Given the description of an element on the screen output the (x, y) to click on. 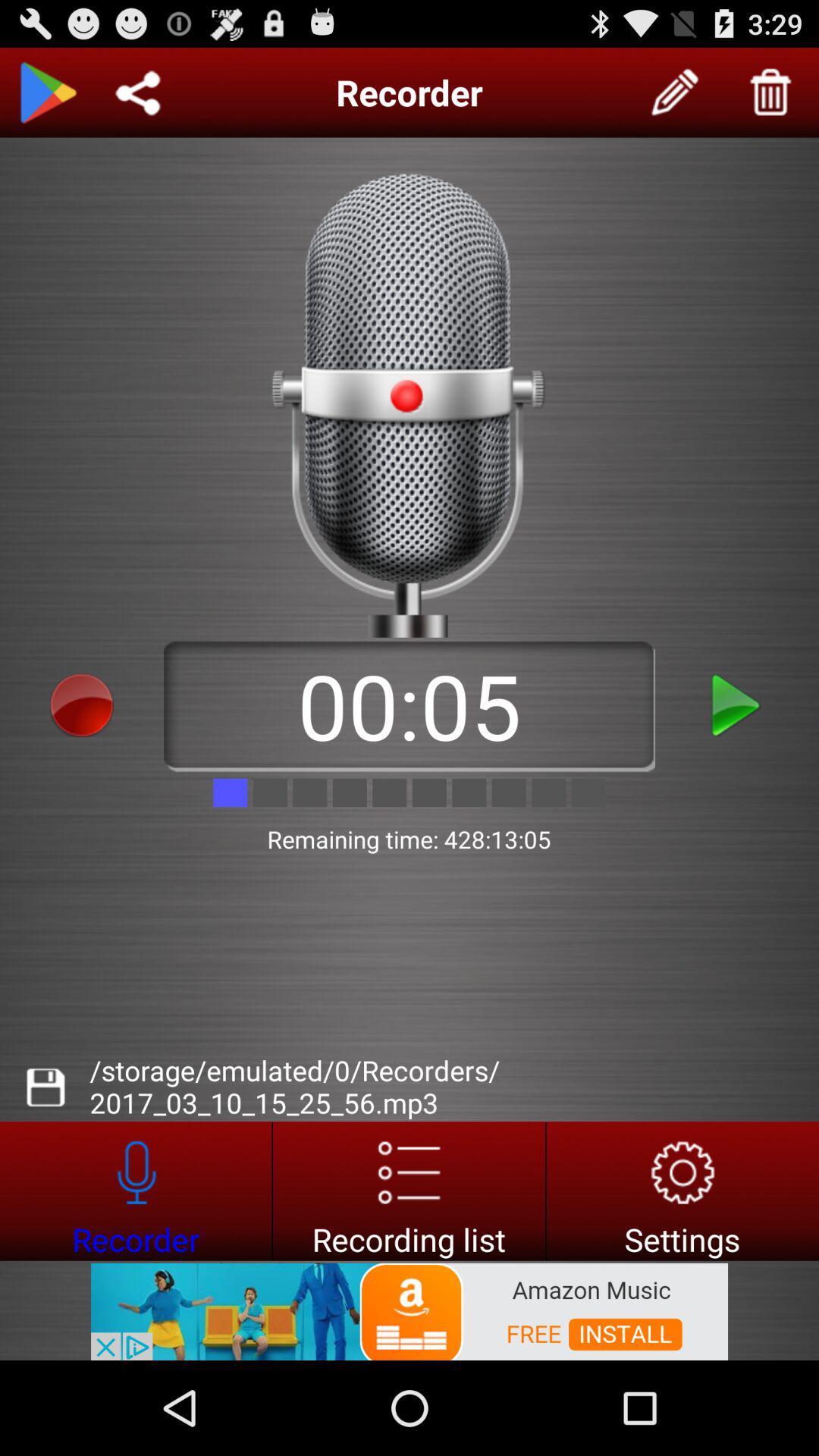
stop recording option (81, 705)
